Given the description of an element on the screen output the (x, y) to click on. 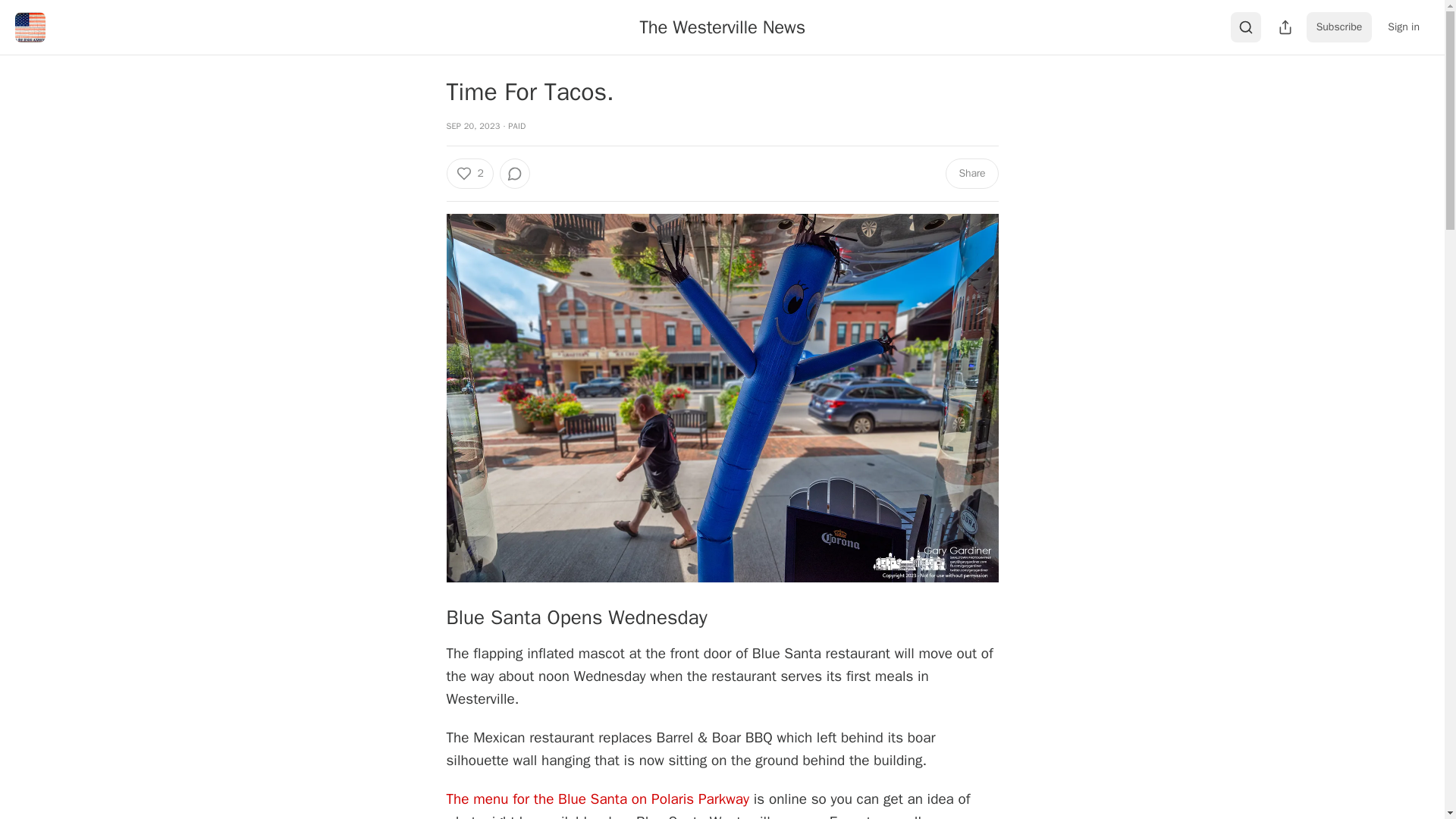
The Westerville News (722, 26)
The menu for the Blue Santa on Polaris Parkway (597, 799)
Subscribe (1339, 27)
Share (970, 173)
Sign in (1403, 27)
2 (469, 173)
